Given the description of an element on the screen output the (x, y) to click on. 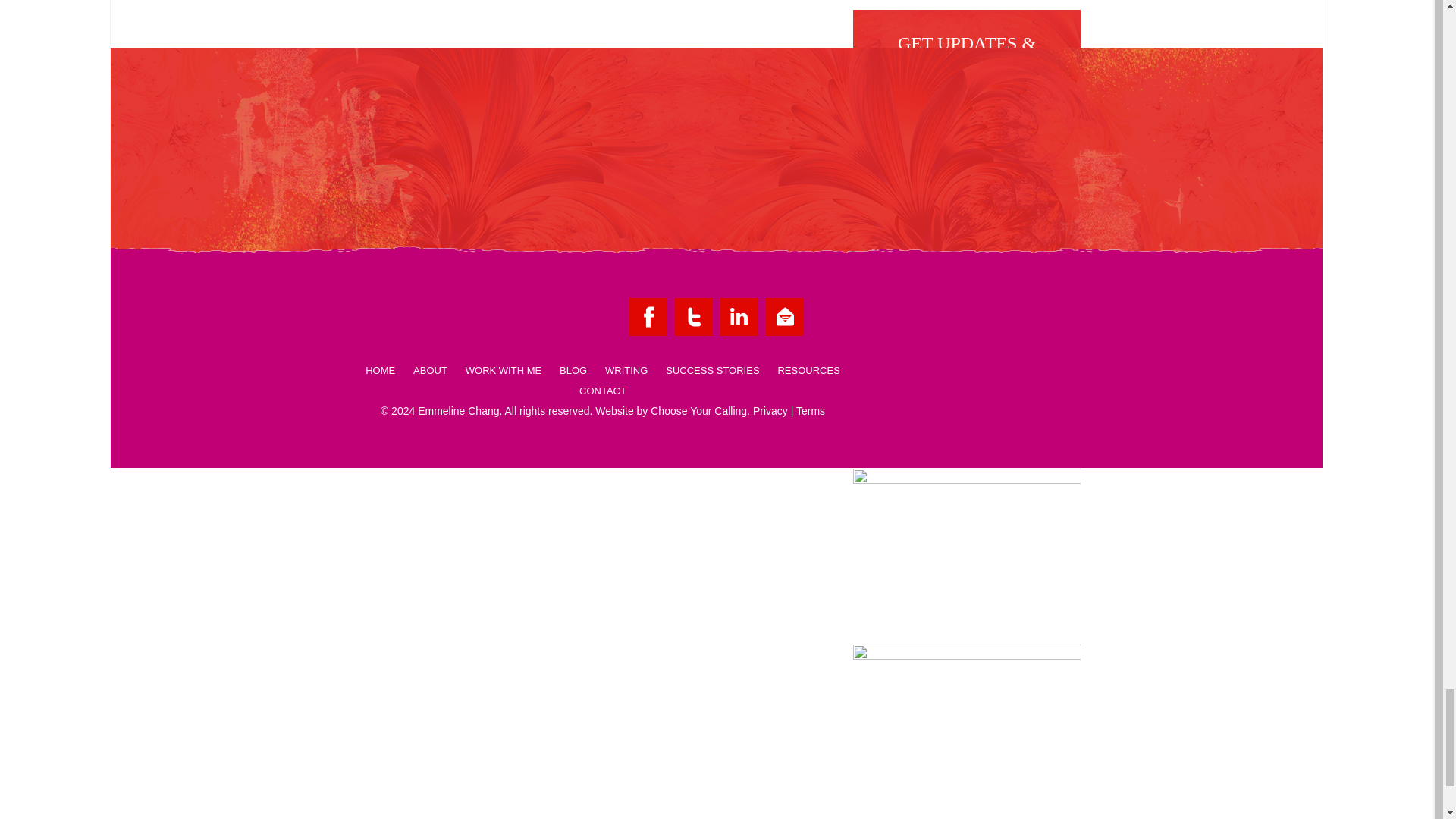
GET YOUR MAGIC! (945, 187)
HOME (380, 374)
ABOUT (430, 374)
